Given the description of an element on the screen output the (x, y) to click on. 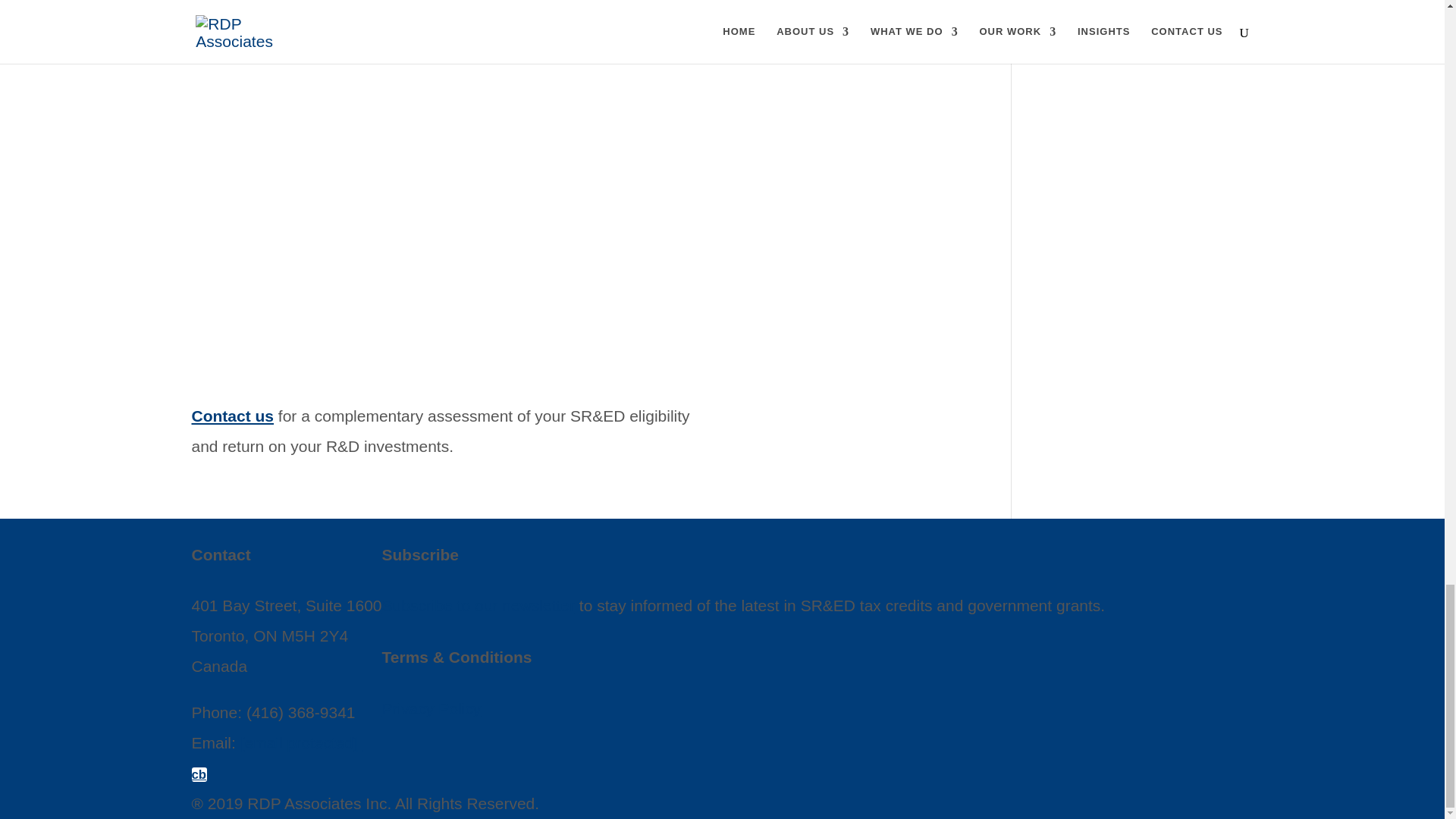
Privacy Policy (431, 708)
Contact us (231, 416)
cb (198, 774)
Subscribe to our newsletter (478, 605)
